Given the description of an element on the screen output the (x, y) to click on. 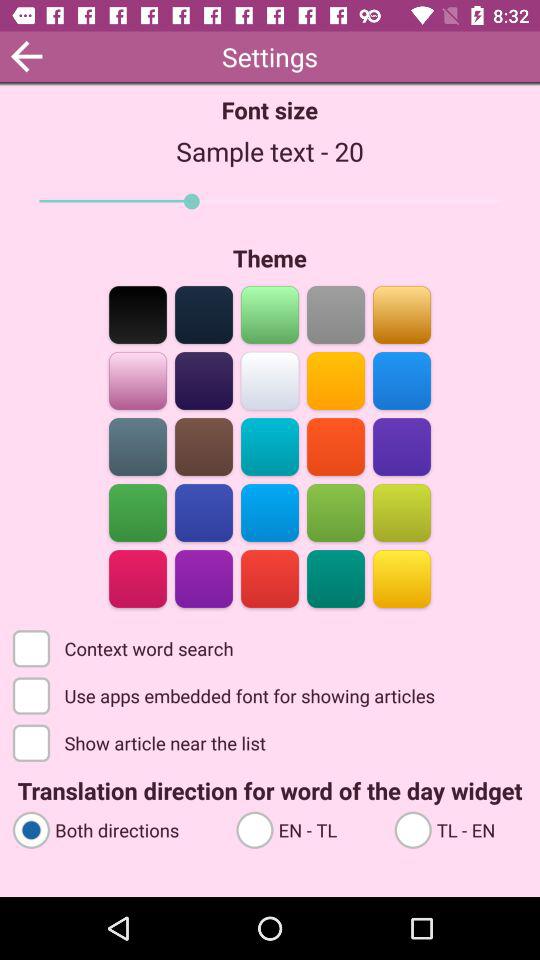
displaying a navy theme color (203, 313)
